Given the description of an element on the screen output the (x, y) to click on. 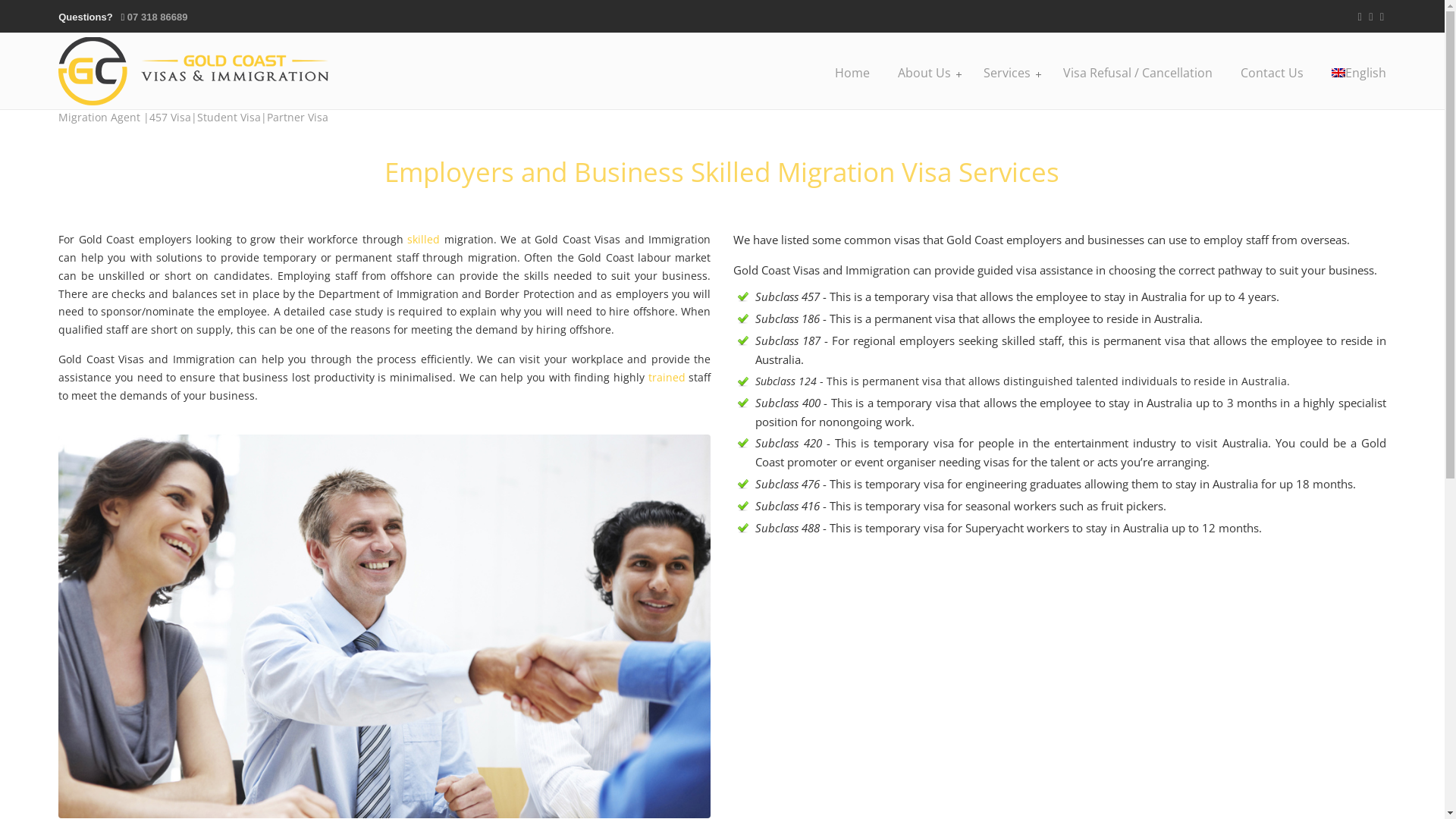
Google+ Element type: hover (1381, 16)
trained Element type: text (666, 377)
English Element type: hover (1338, 72)
Visa Refusal / Cancellation Element type: text (1137, 72)
Services Element type: text (1009, 72)
About Us Element type: text (926, 72)
Contact Us Element type: text (1271, 72)
English Element type: text (1358, 72)
07 318 86689 Element type: text (157, 16)
Facebook Element type: hover (1370, 16)
Twitter Element type: hover (1359, 16)
Home Element type: text (851, 72)
skilled Element type: text (423, 239)
